Given the description of an element on the screen output the (x, y) to click on. 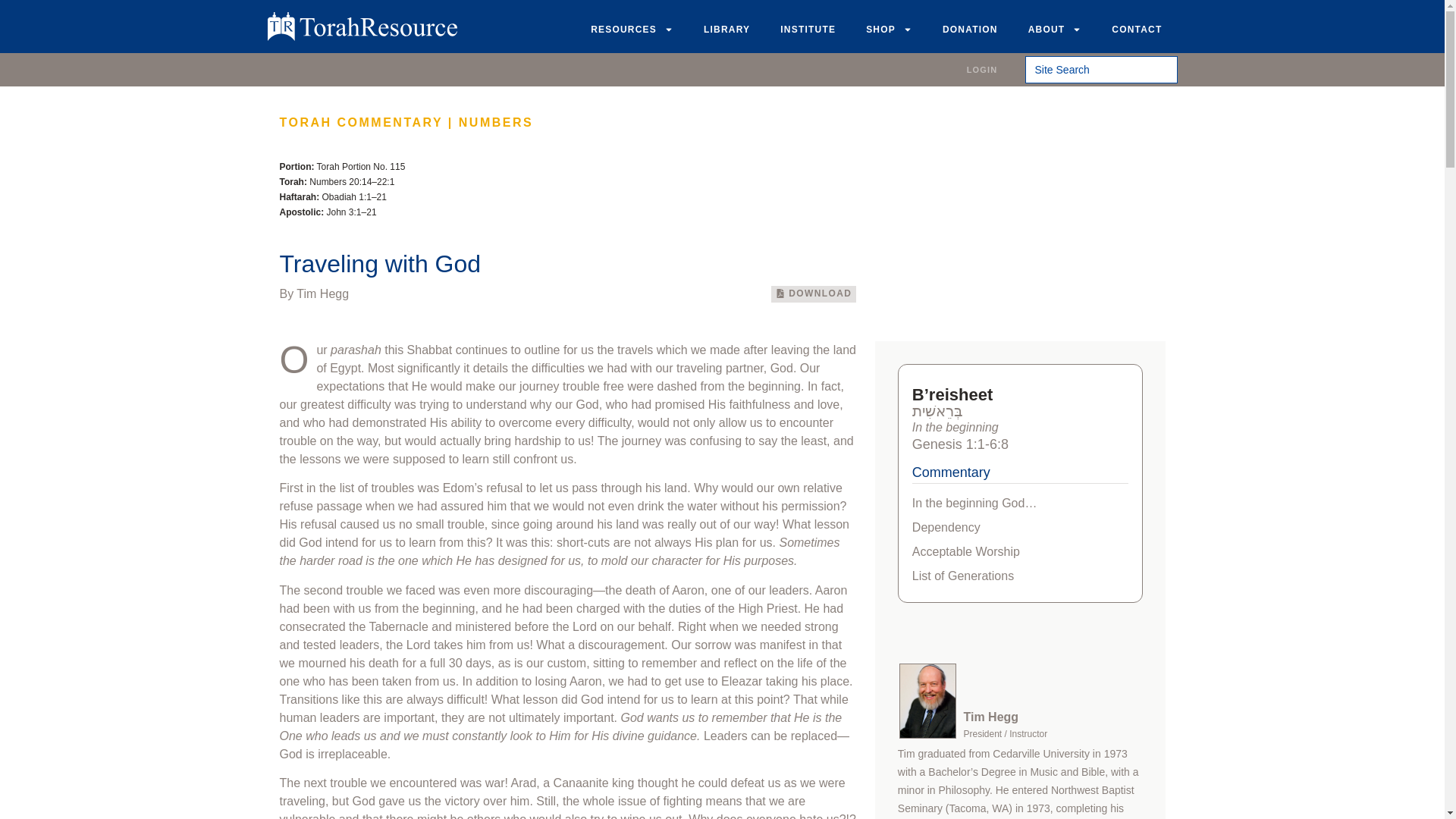
LIBRARY (726, 29)
SHOP (888, 29)
DONATION (970, 29)
INSTITUTE (807, 29)
ABOUT (1055, 29)
RESOURCES (631, 29)
